Given the description of an element on the screen output the (x, y) to click on. 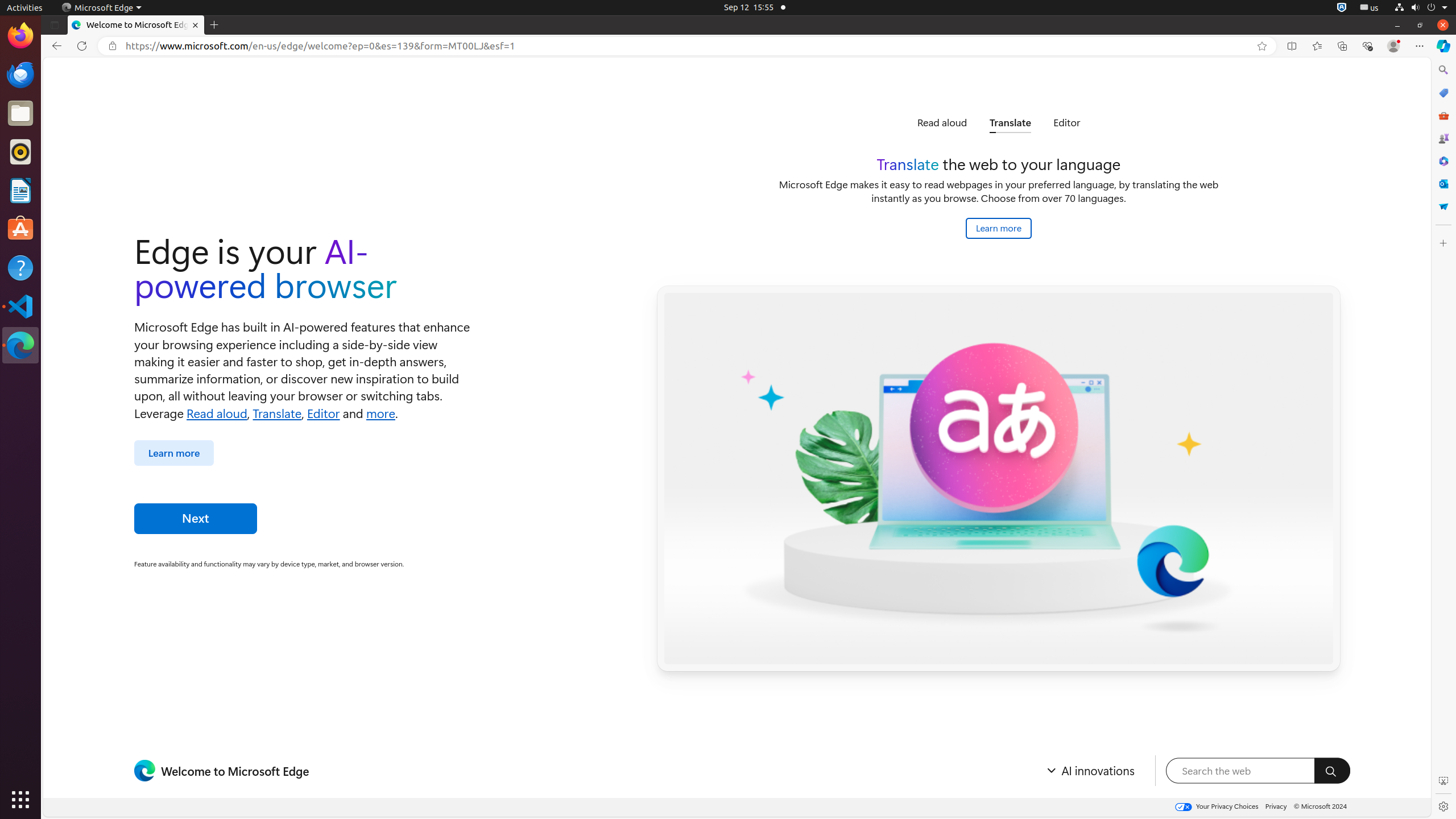
:1.72/StatusNotifierItem Element type: menu (1341, 7)
Microsoft Edge Element type: push-button (20, 344)
Rhythmbox Element type: push-button (20, 151)
Add this page to favorites (Ctrl+D) Element type: push-button (1261, 46)
Tools Element type: push-button (1443, 115)
